Given the description of an element on the screen output the (x, y) to click on. 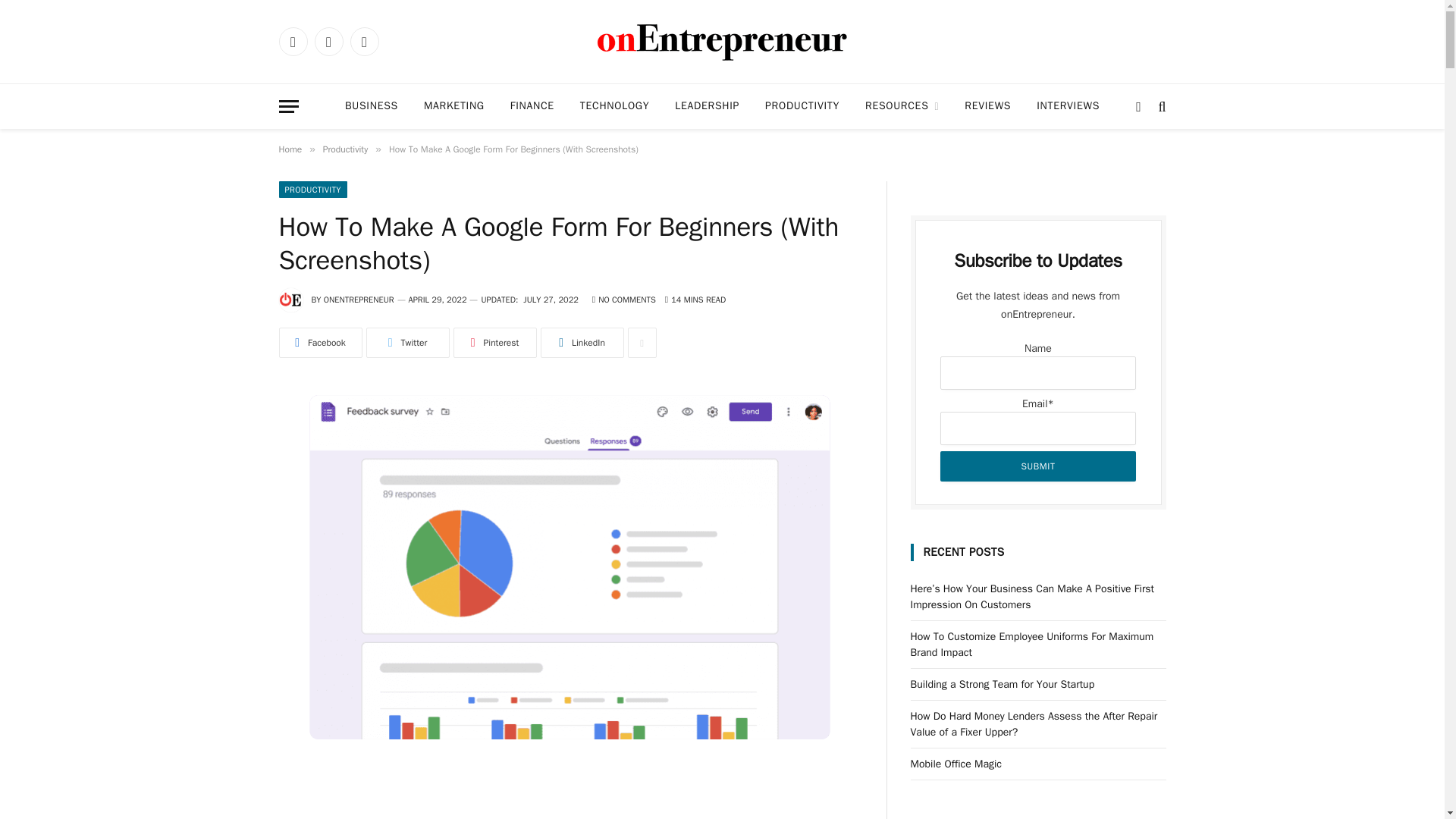
Share on LinkedIn (581, 342)
LinkedIn (364, 41)
Switch to Dark Design - easier on eyes. (1138, 106)
BUSINESS (370, 106)
RESOURCES (901, 106)
Share on Pinterest (494, 342)
TECHNOLOGY (614, 106)
Facebook (293, 41)
FINANCE (532, 106)
Posts by onEntrepreneur (358, 299)
PRODUCTIVITY (801, 106)
onEntrepreneur (721, 41)
Share on Facebook (320, 342)
MARKETING (453, 106)
Submit (1037, 466)
